Given the description of an element on the screen output the (x, y) to click on. 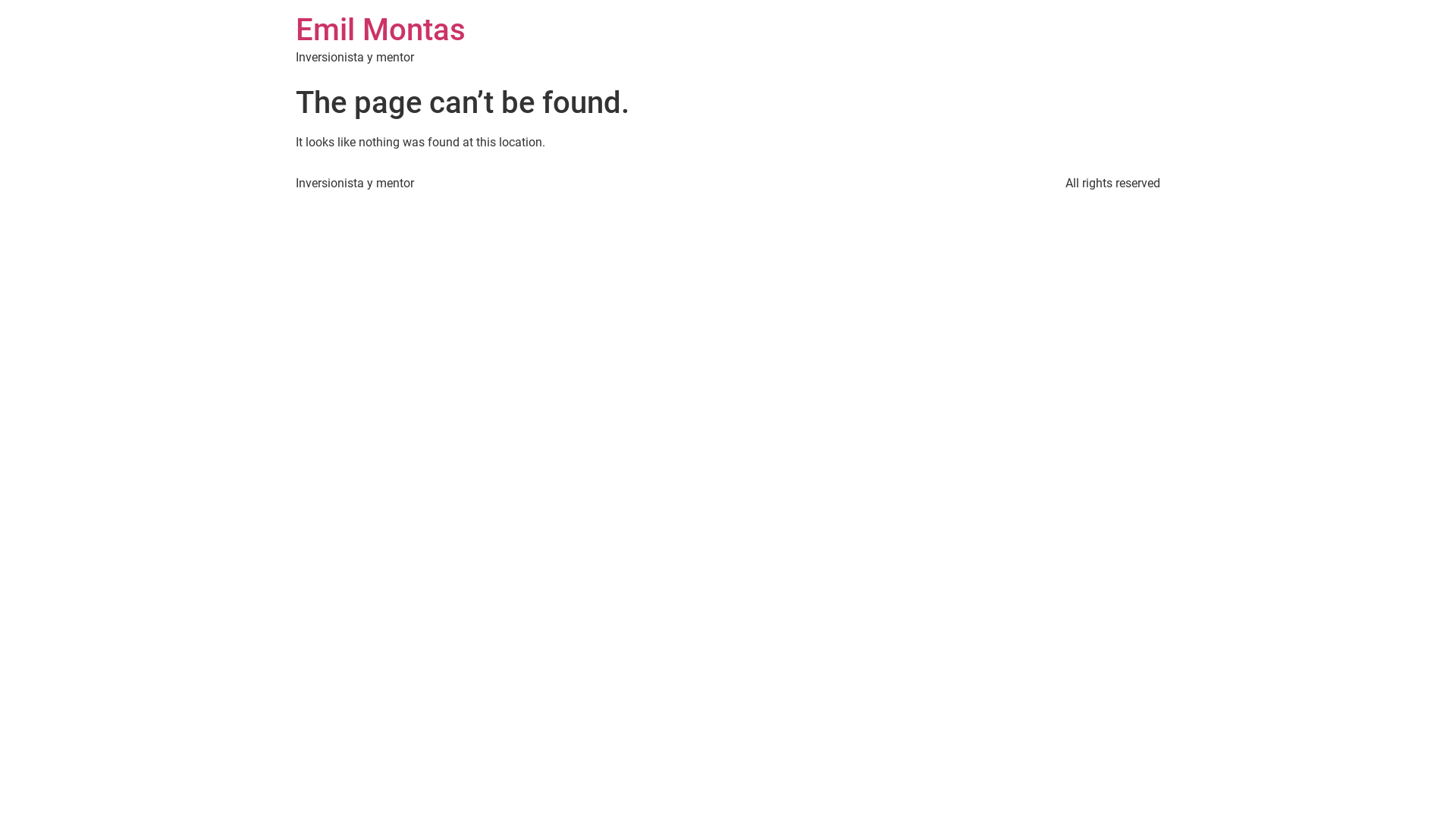
Emil Montas Element type: text (380, 29)
